Given the description of an element on the screen output the (x, y) to click on. 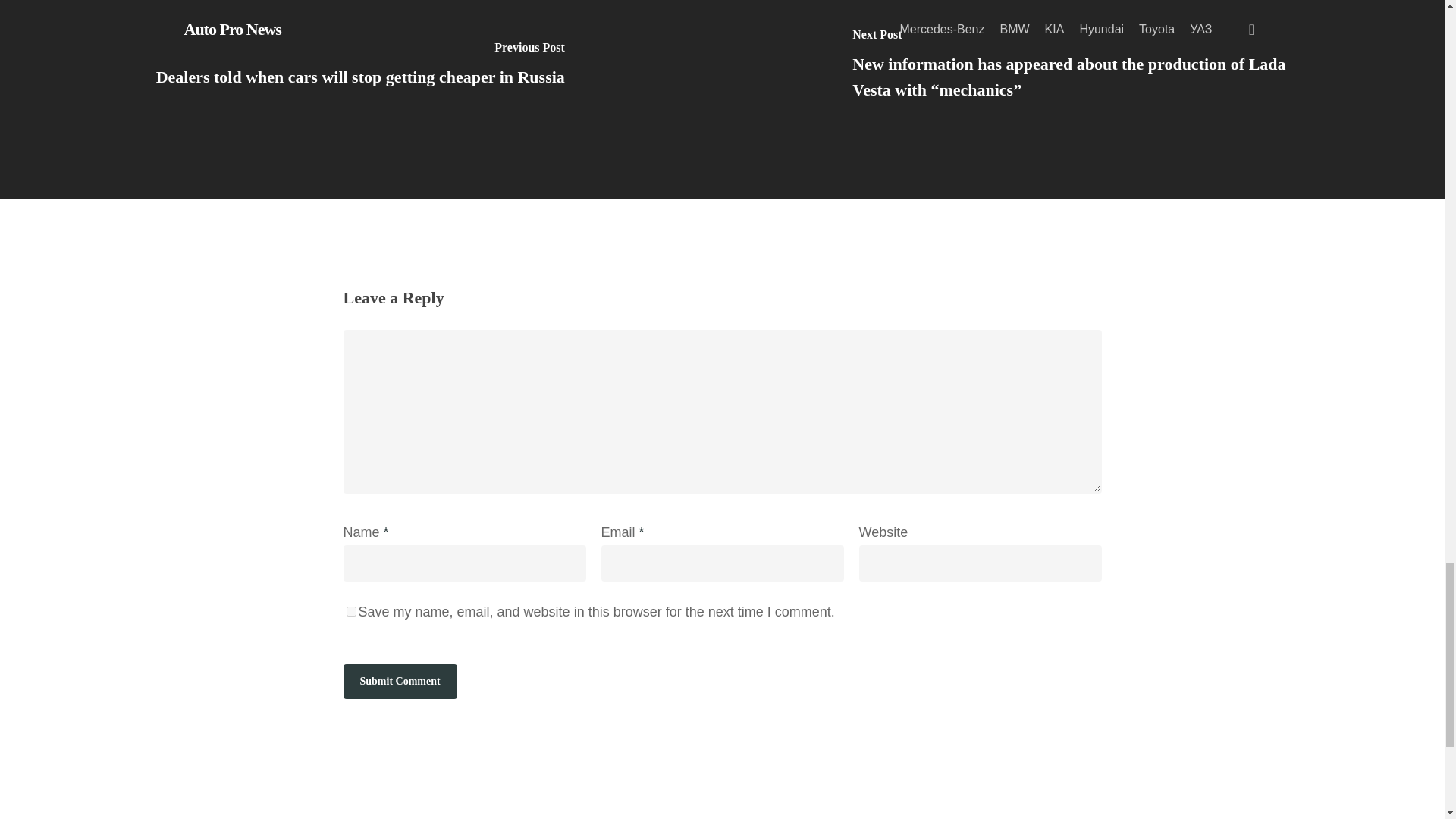
yes (350, 611)
Submit Comment (399, 681)
